Given the description of an element on the screen output the (x, y) to click on. 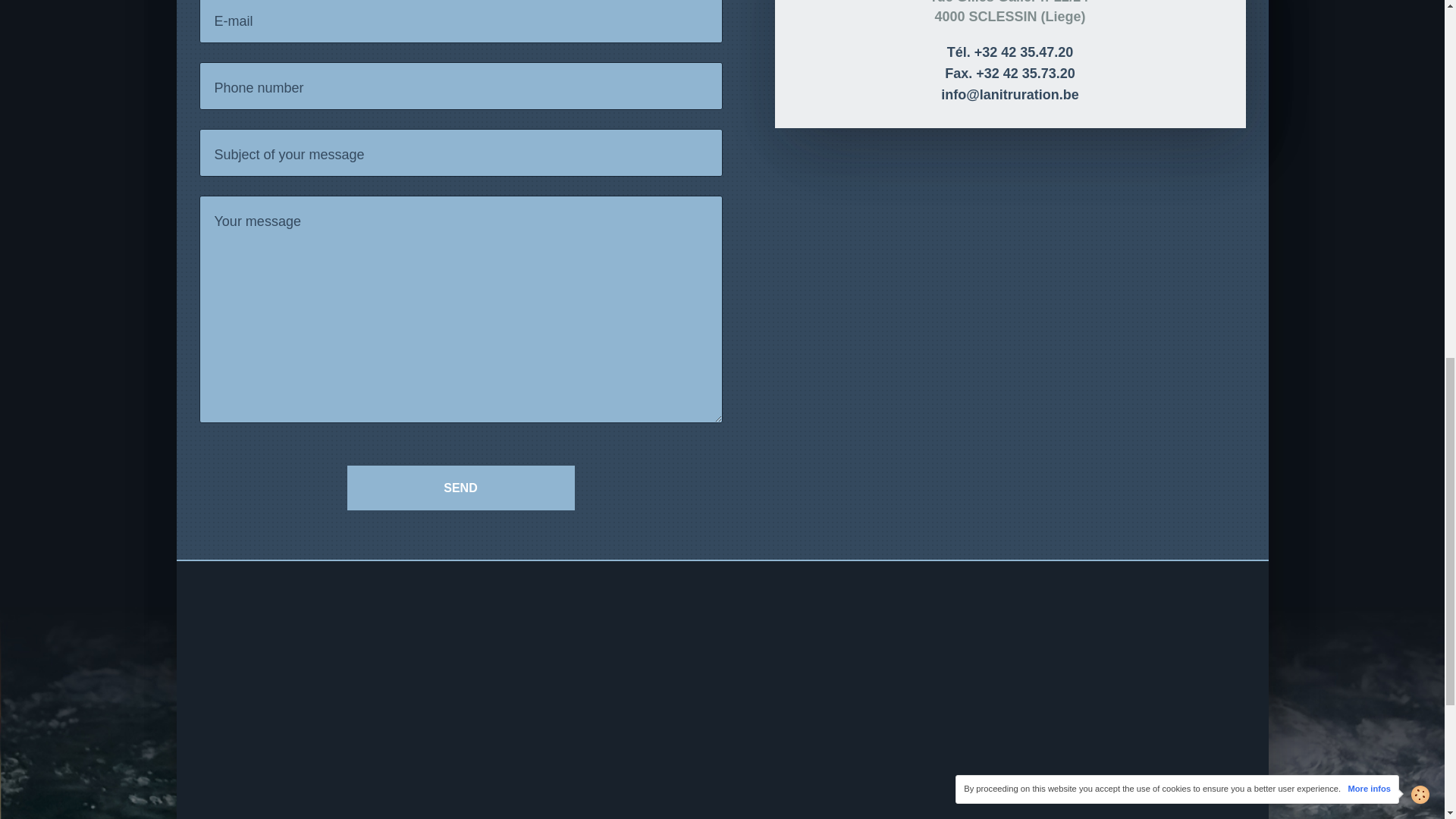
Send (461, 488)
Send (461, 488)
Subject of your message (460, 152)
Phone number (460, 85)
Your message (460, 309)
email (460, 21)
